Given the description of an element on the screen output the (x, y) to click on. 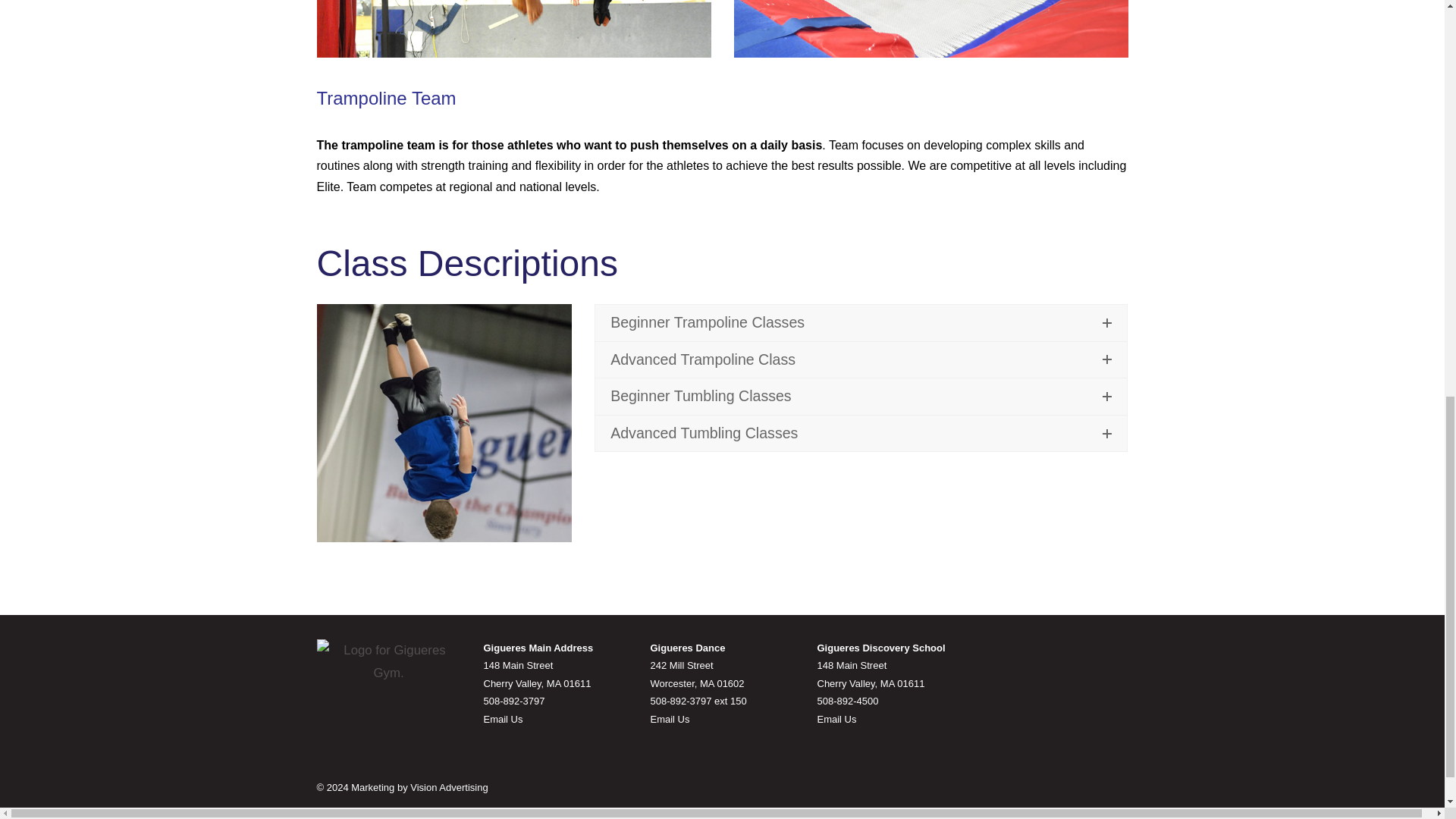
beginnertrampoline-scaled2 (930, 29)
footer-logo (389, 661)
Trampoline-AdvancedSmaller (514, 29)
flipping1 (444, 422)
Beginner Trampoline Classes (860, 322)
Advanced Trampoline Class (860, 360)
Beginner Tumbling Classes (860, 396)
